Given the description of an element on the screen output the (x, y) to click on. 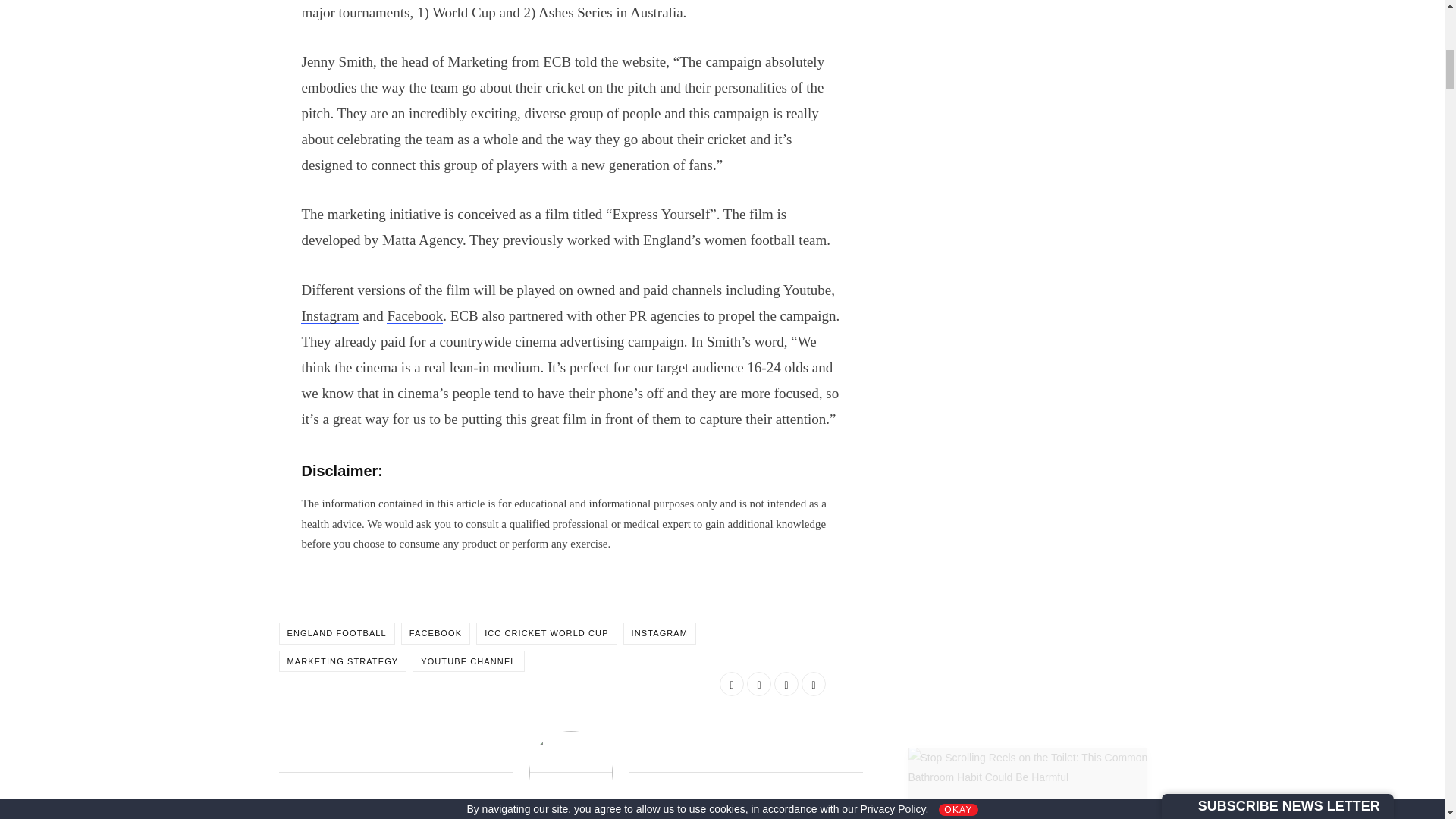
ENGLAND FOOTBALL (336, 633)
Pinterest (813, 683)
YOUTUBE CHANNEL (468, 661)
MARKETING STRATEGY (343, 661)
LinkedIn (785, 683)
Share on Twitter (758, 683)
Facebook (414, 315)
Instagram (329, 315)
INSTAGRAM (659, 633)
FACEBOOK (435, 633)
